Given the description of an element on the screen output the (x, y) to click on. 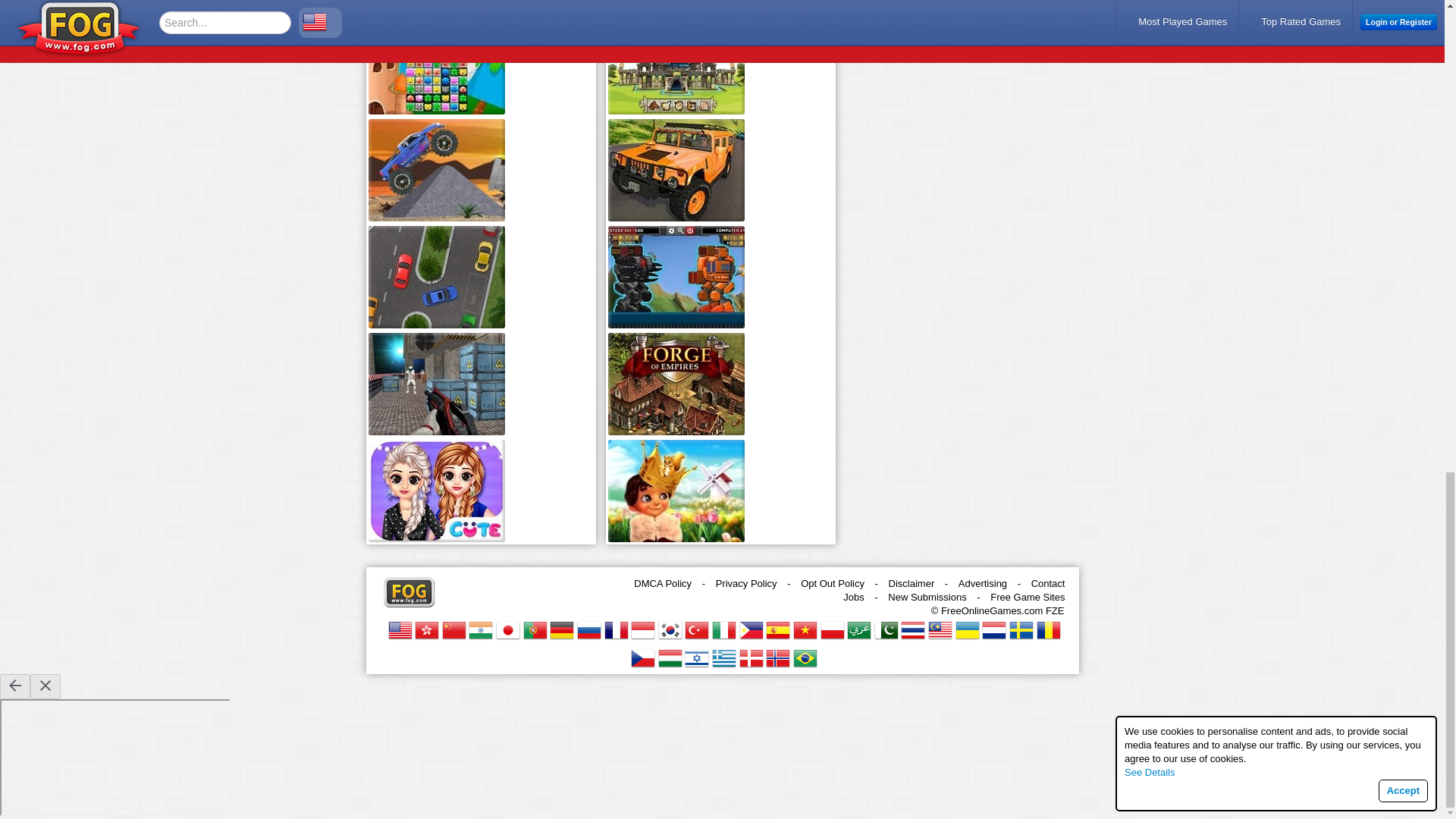
Main Game Di Indonesia (642, 630)
Giochi In italiano (723, 630)
Spielen Sie Spiele auf Deutsch (561, 630)
Maglaro ng Mga Laro Sa Tagalo (750, 630)
Play Games In English (400, 630)
